Given the description of an element on the screen output the (x, y) to click on. 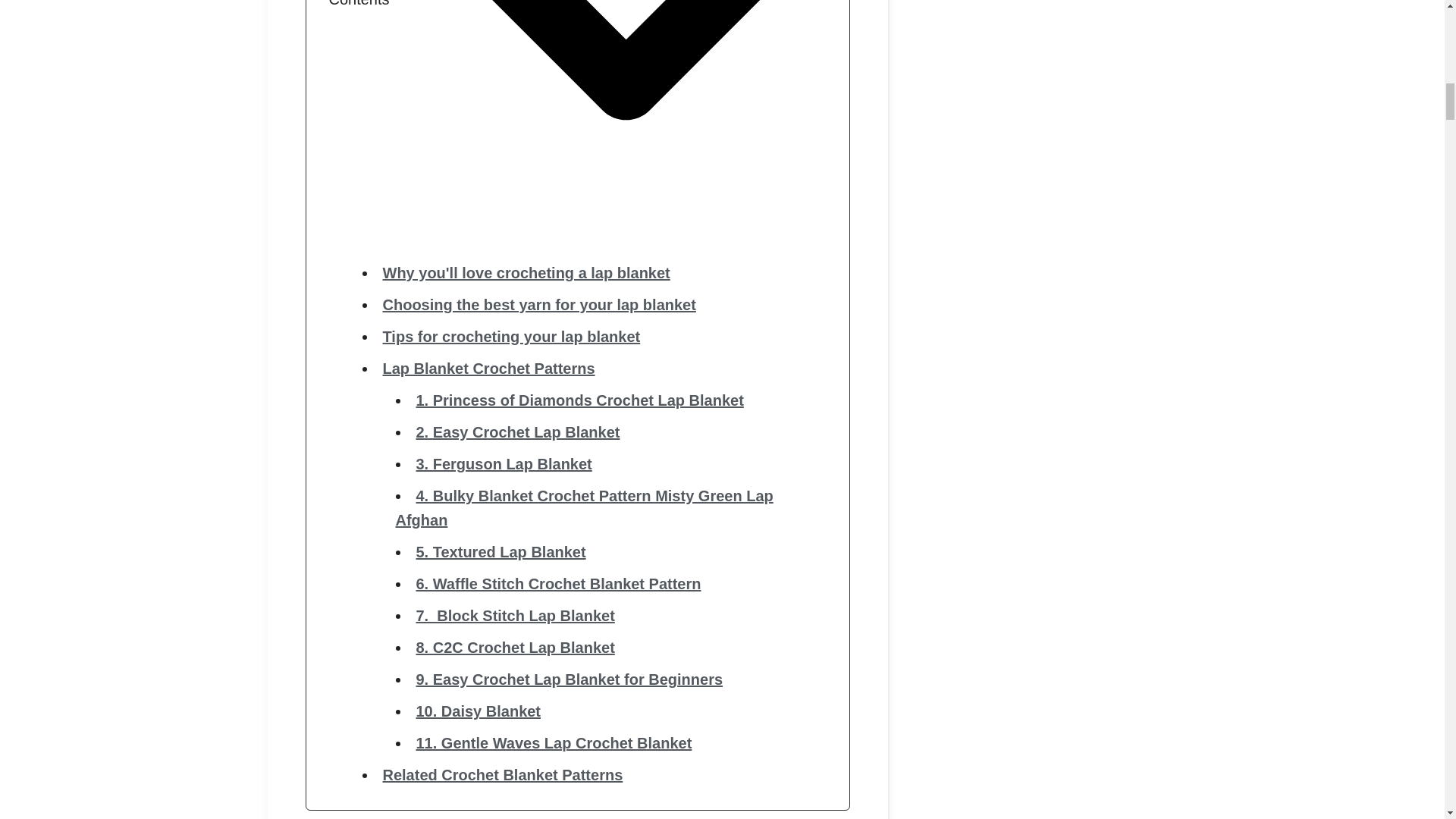
6. Waffle Stitch Crochet Blanket Pattern (557, 583)
5. Textured Lap Blanket (499, 551)
11. Gentle Waves Lap Crochet Blanket (552, 742)
Lap Blanket Crochet Patterns (487, 368)
Why you'll love crocheting a lap blanket (525, 272)
Choosing the best yarn for your lap blanket (538, 304)
4. Bulky Blanket Crochet Pattern Misty Green Lap Afghan (584, 507)
8. C2C Crochet Lap Blanket (514, 647)
Tips for crocheting your lap blanket (510, 336)
3. Ferguson Lap Blanket (502, 463)
